Given the description of an element on the screen output the (x, y) to click on. 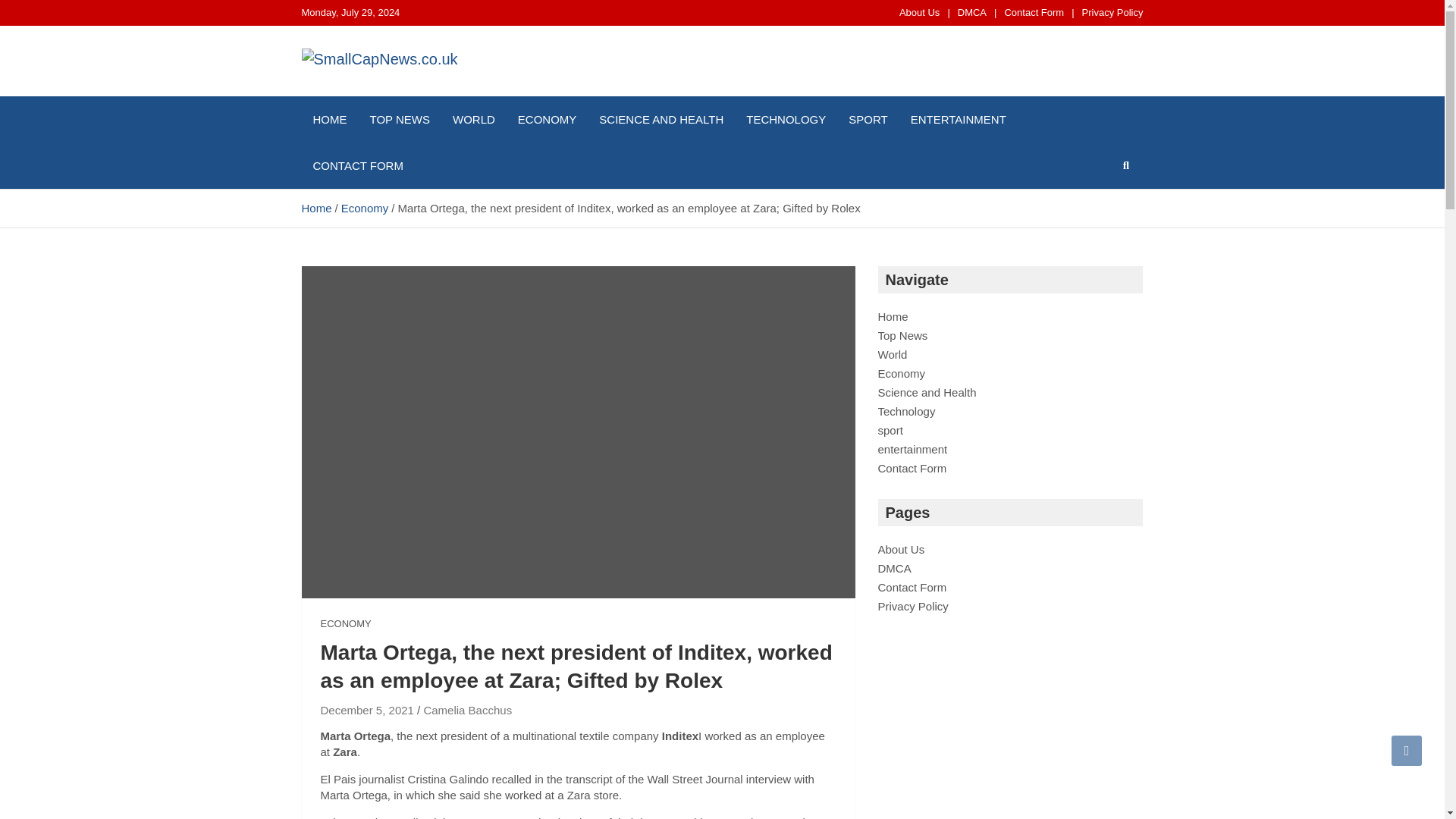
Economy (364, 207)
SmallCapNews.co.uk (454, 92)
Privacy Policy (1111, 12)
WORLD (473, 119)
Top News (902, 335)
ENTERTAINMENT (958, 119)
ECONOMY (345, 623)
entertainment (912, 449)
About Us (900, 549)
ECONOMY (547, 119)
World (892, 354)
DMCA (972, 12)
HOME (329, 119)
SCIENCE AND HEALTH (661, 119)
